Given the description of an element on the screen output the (x, y) to click on. 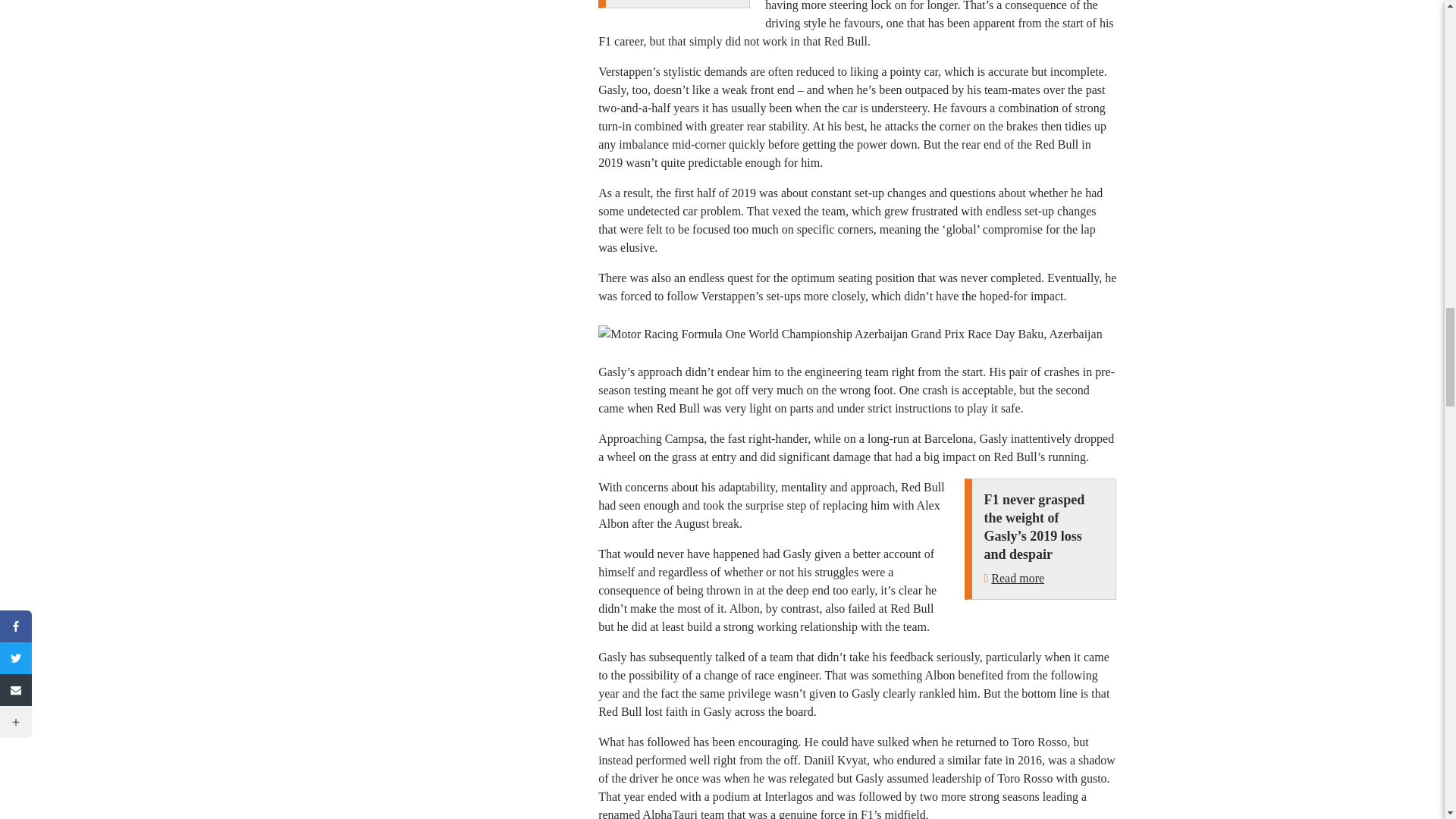
Read more (1017, 577)
